Given the description of an element on the screen output the (x, y) to click on. 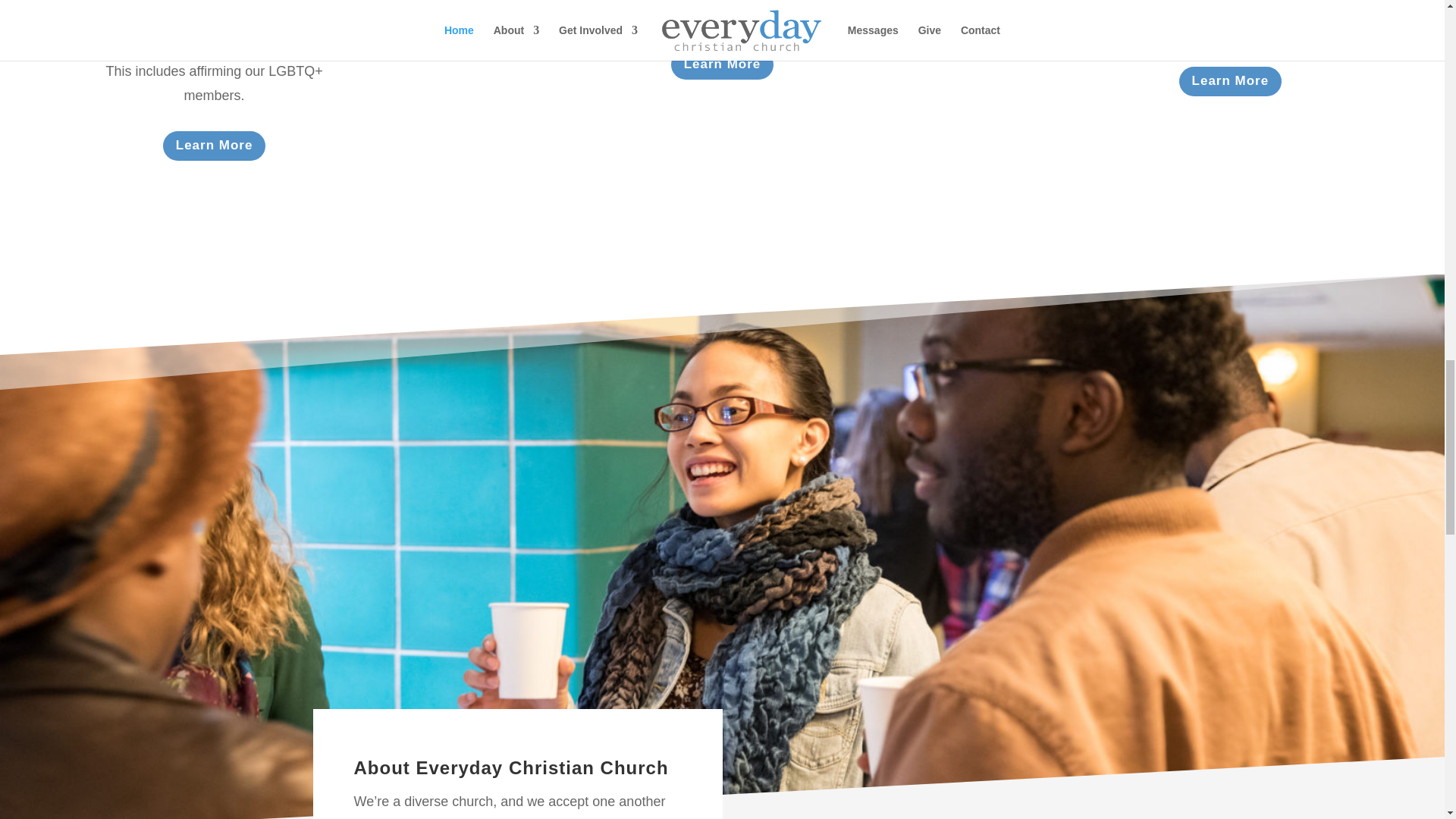
Learn More (1230, 81)
Learn More (214, 145)
Learn More (722, 64)
